Given the description of an element on the screen output the (x, y) to click on. 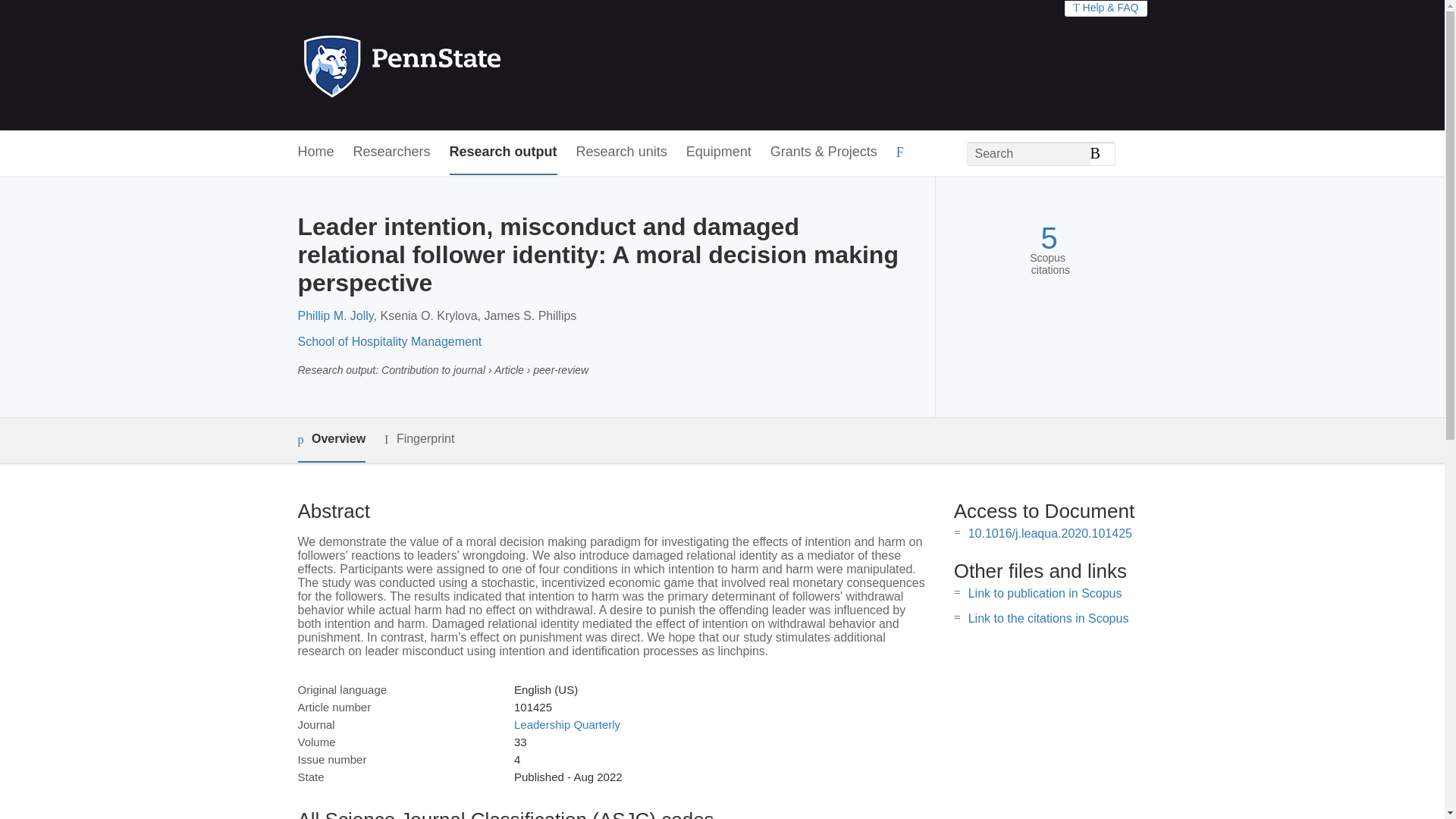
Research units (621, 152)
Link to the citations in Scopus (1048, 617)
Link to publication in Scopus (1045, 593)
Phillip M. Jolly (334, 315)
Equipment (718, 152)
Penn State Home (467, 65)
Researchers (391, 152)
Leadership Quarterly (566, 724)
Overview (331, 439)
Research output (503, 152)
School of Hospitality Management (389, 341)
Fingerprint (419, 439)
